Given the description of an element on the screen output the (x, y) to click on. 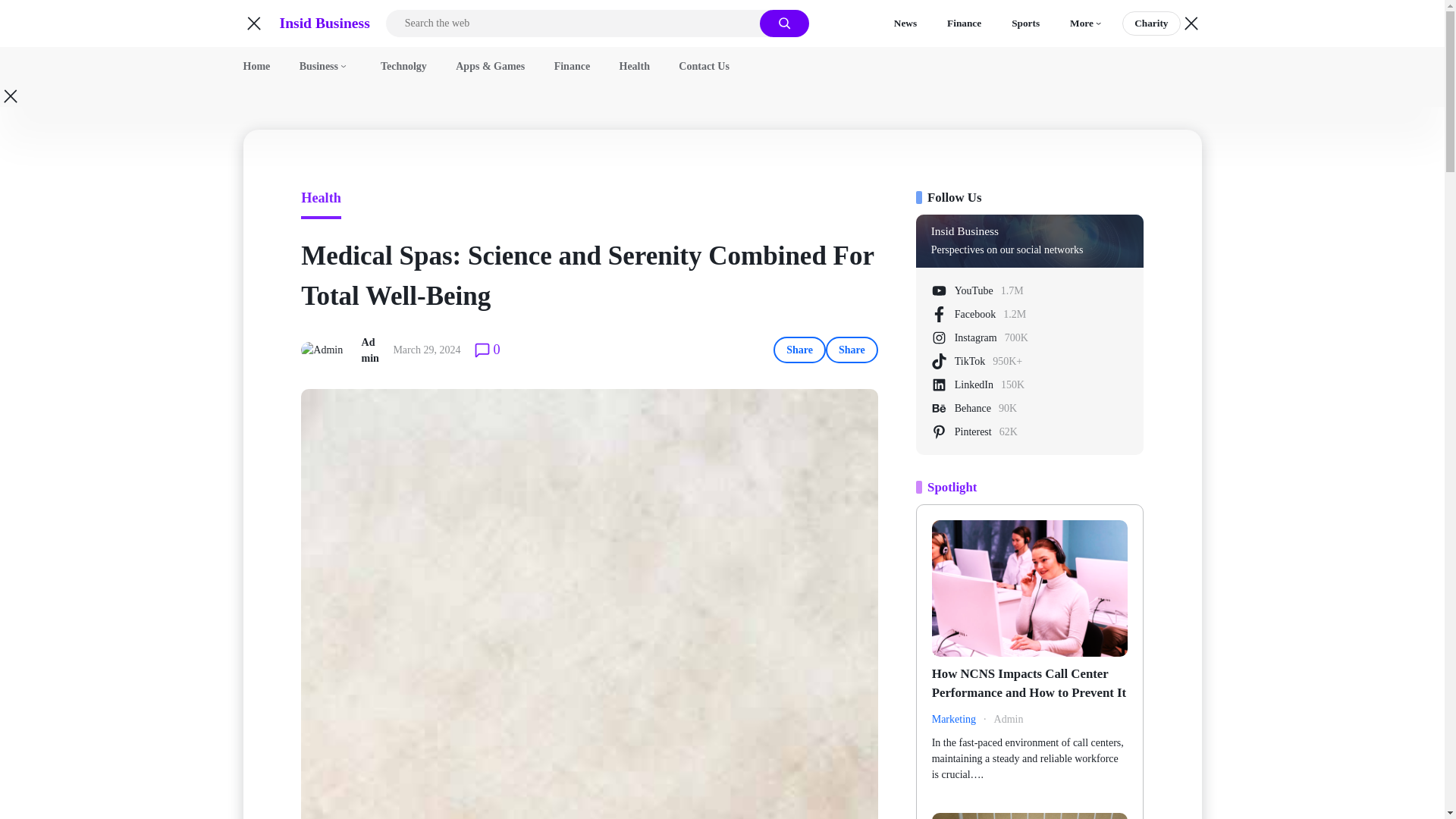
News (905, 23)
Finance (964, 23)
Sports (1025, 23)
More (1086, 23)
